Given the description of an element on the screen output the (x, y) to click on. 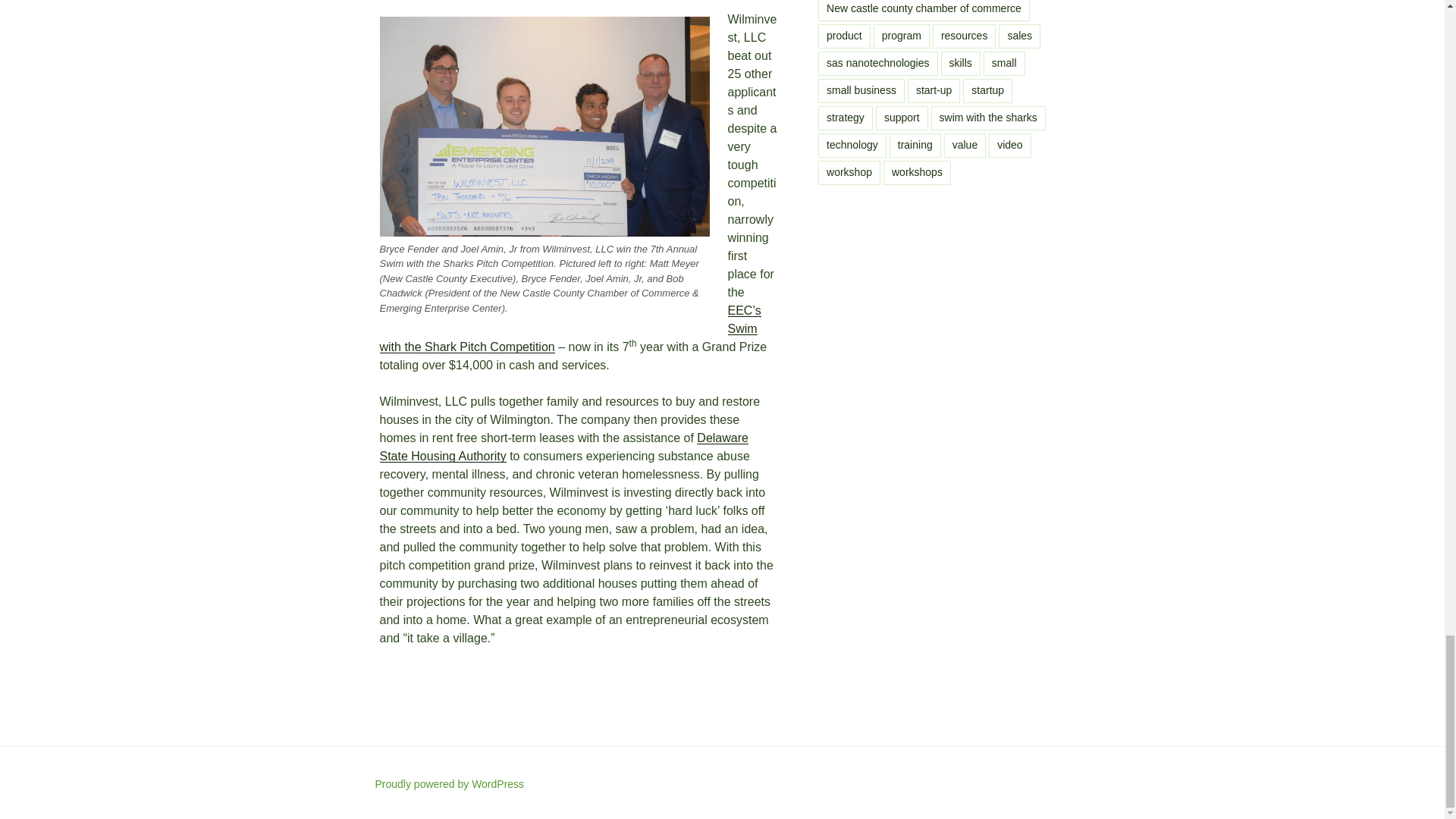
Delaware State Housing Authority (563, 446)
